Given the description of an element on the screen output the (x, y) to click on. 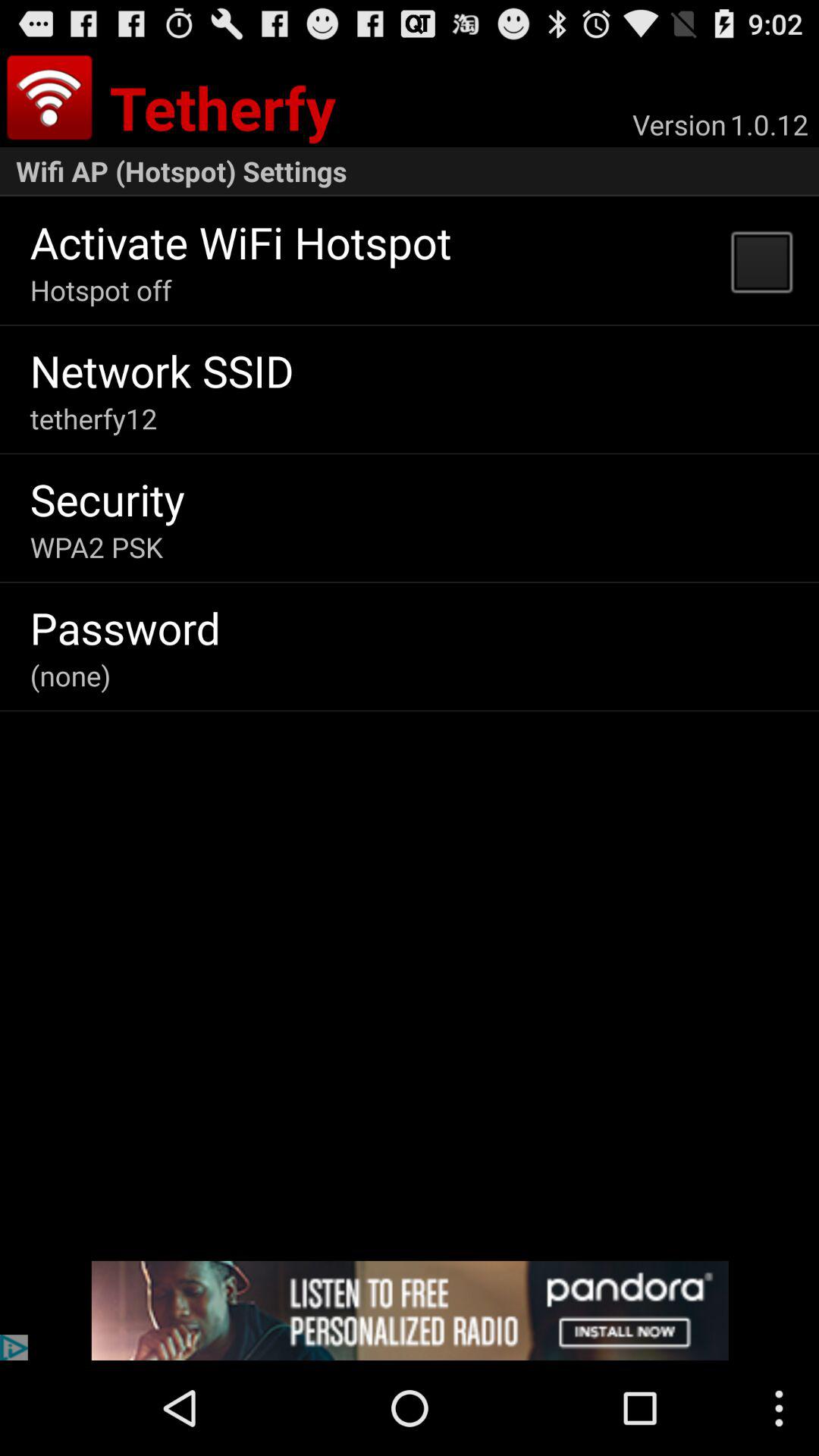
tap the wpa2 psk item (96, 546)
